Given the description of an element on the screen output the (x, y) to click on. 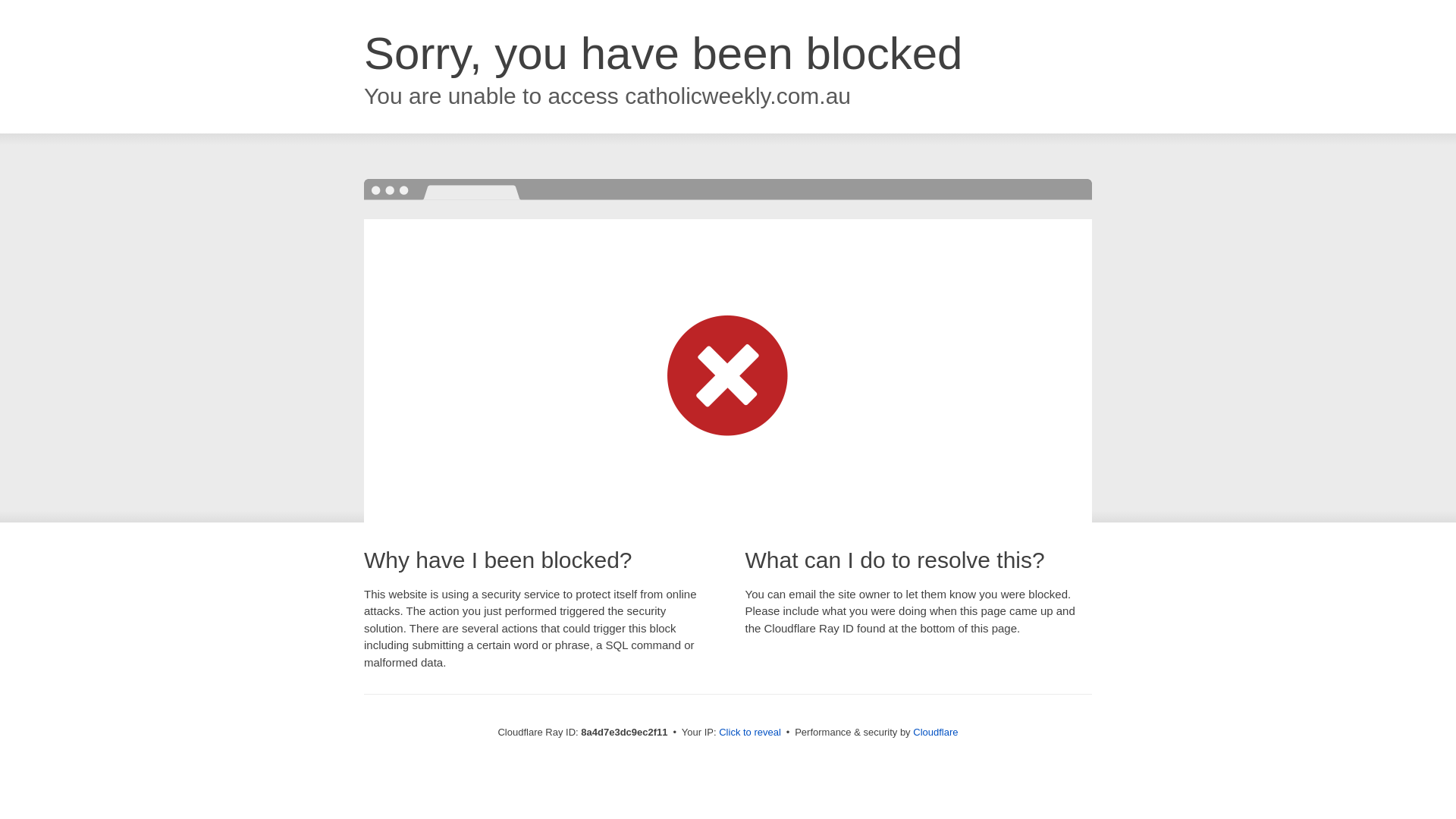
Click to reveal (749, 732)
Cloudflare (935, 731)
